Given the description of an element on the screen output the (x, y) to click on. 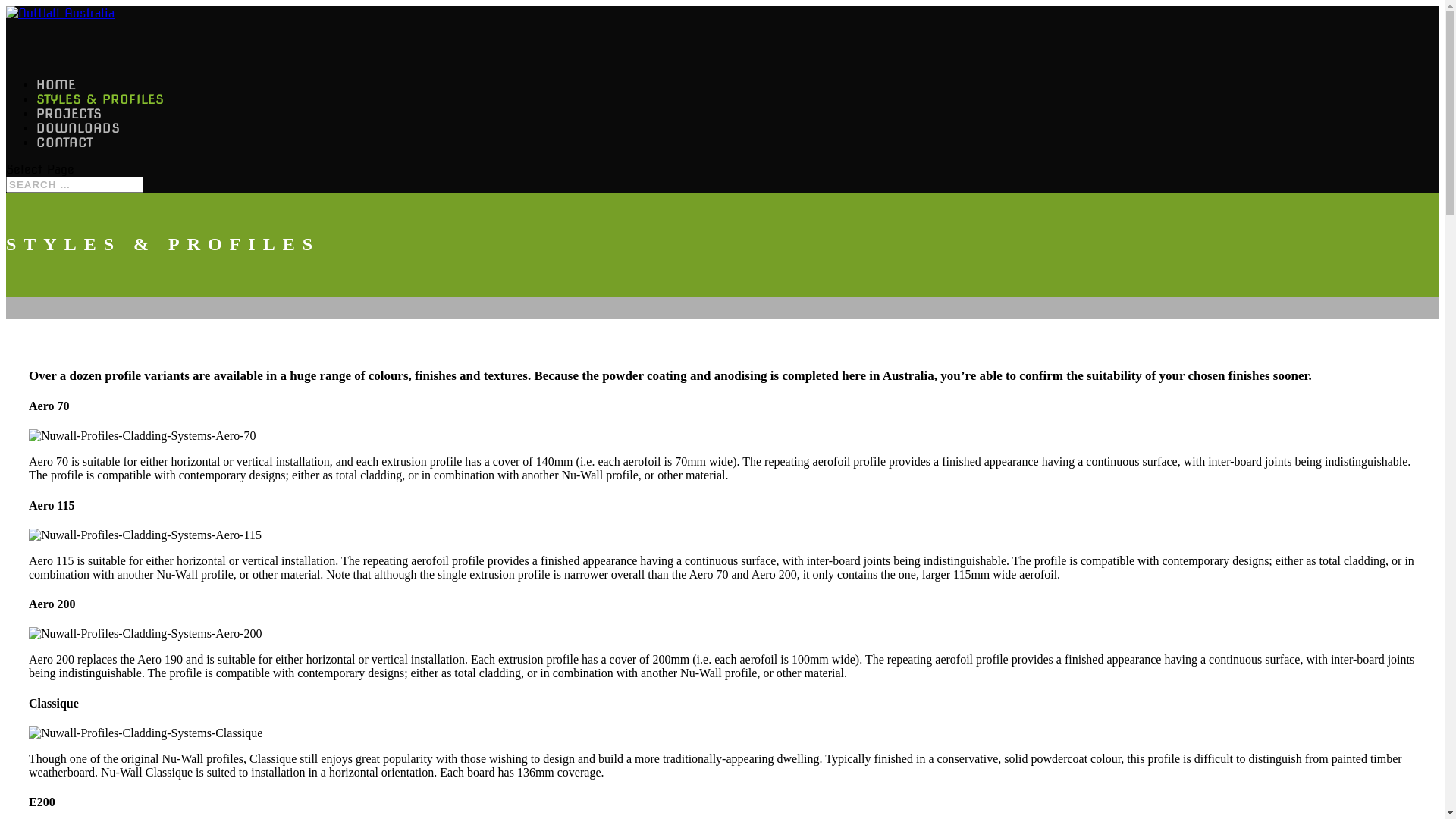
STYLES & PROFILES Element type: text (99, 122)
DOWNLOADS Element type: text (77, 151)
CONTACT Element type: text (64, 165)
PROJECTS Element type: text (68, 136)
HOME Element type: text (55, 108)
Search for: Element type: hover (74, 184)
